Given the description of an element on the screen output the (x, y) to click on. 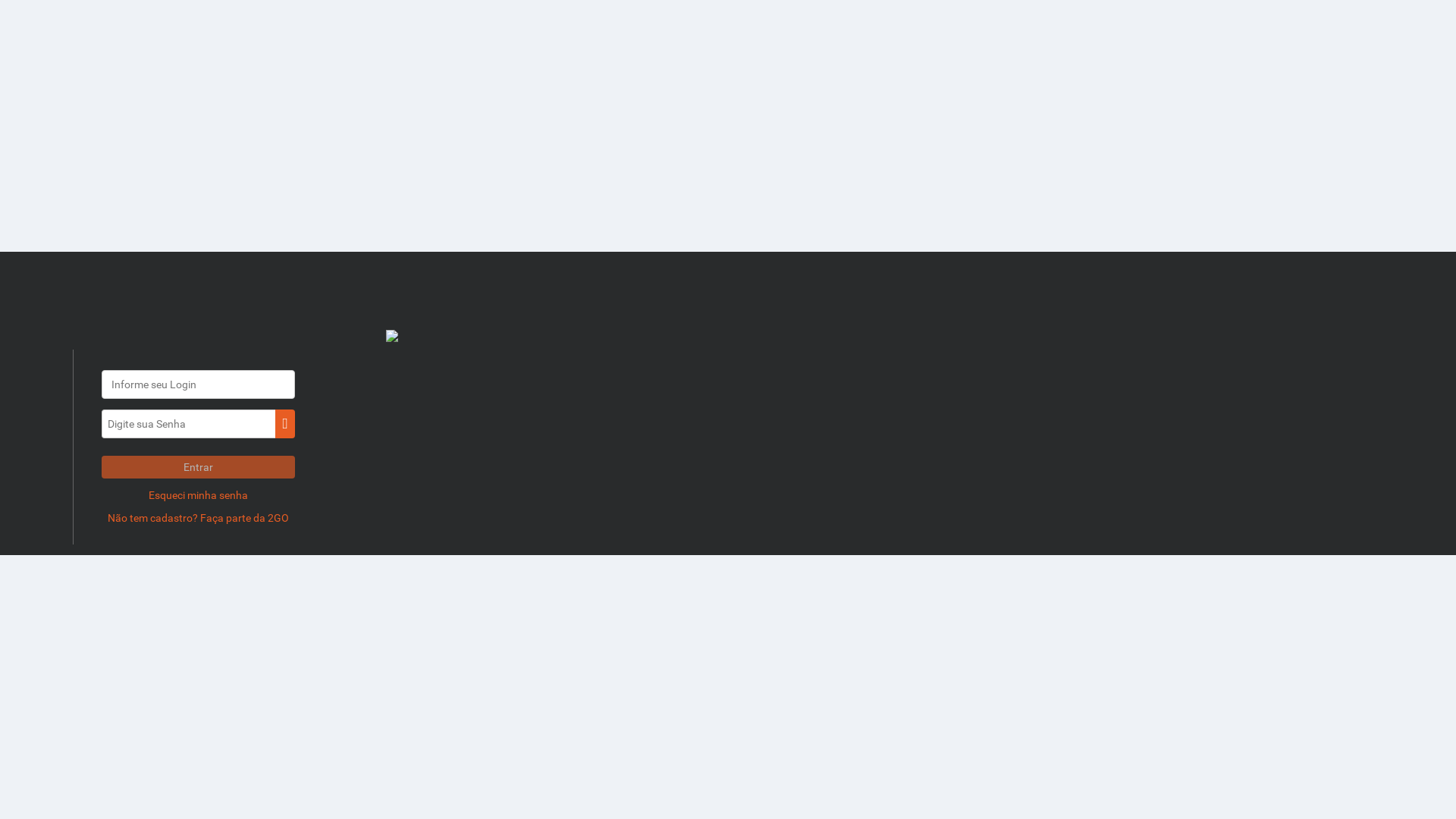
Esqueci minha senha Element type: text (198, 494)
ui-btn Element type: text (284, 423)
Entrar Element type: text (197, 466)
